Given the description of an element on the screen output the (x, y) to click on. 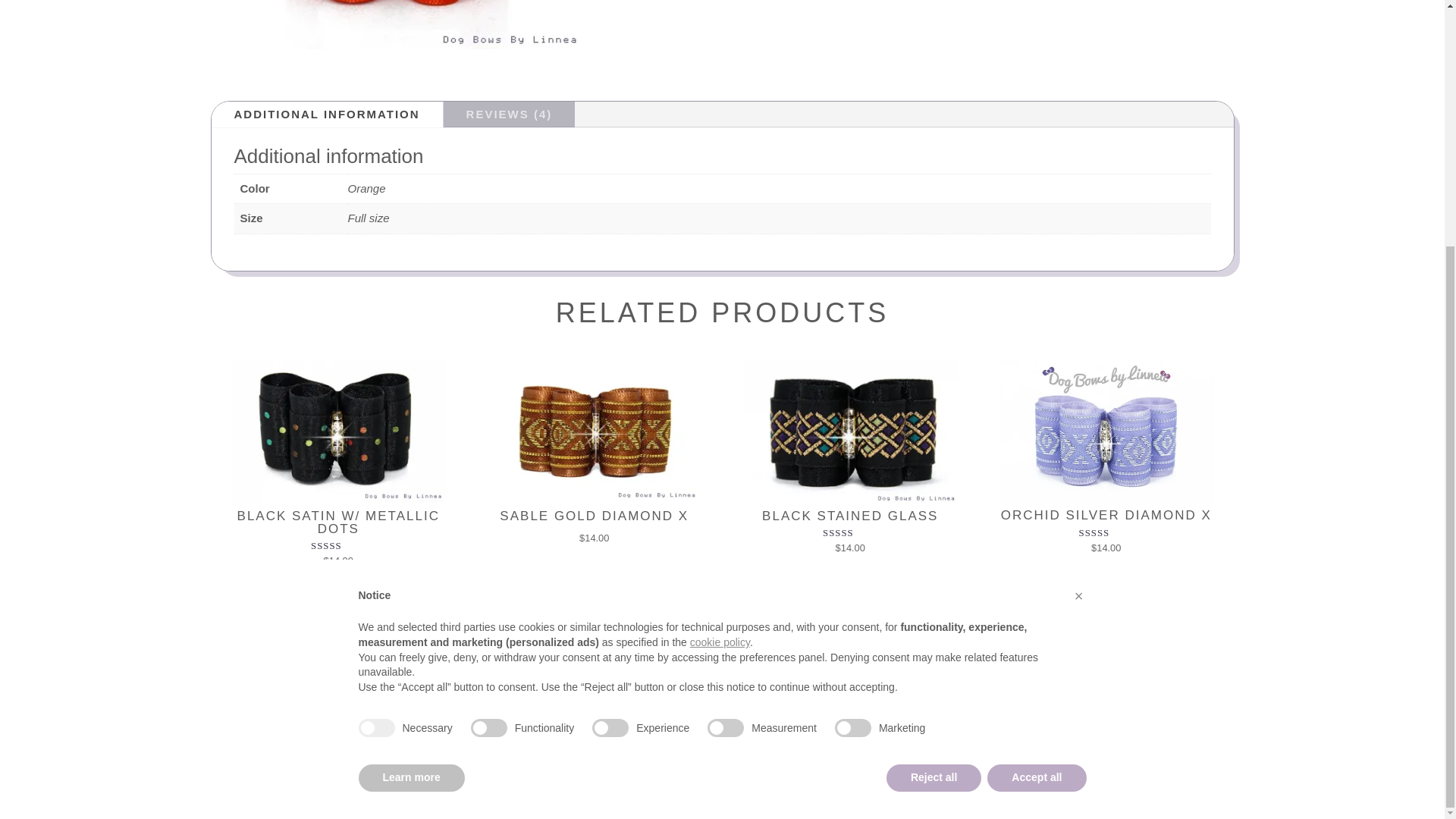
FZGoldEdgeOrange (398, 24)
false (610, 384)
Privacy Policy  (405, 721)
Cookie Policy  (496, 721)
true (376, 384)
false (725, 384)
false (852, 384)
false (488, 384)
